Given the description of an element on the screen output the (x, y) to click on. 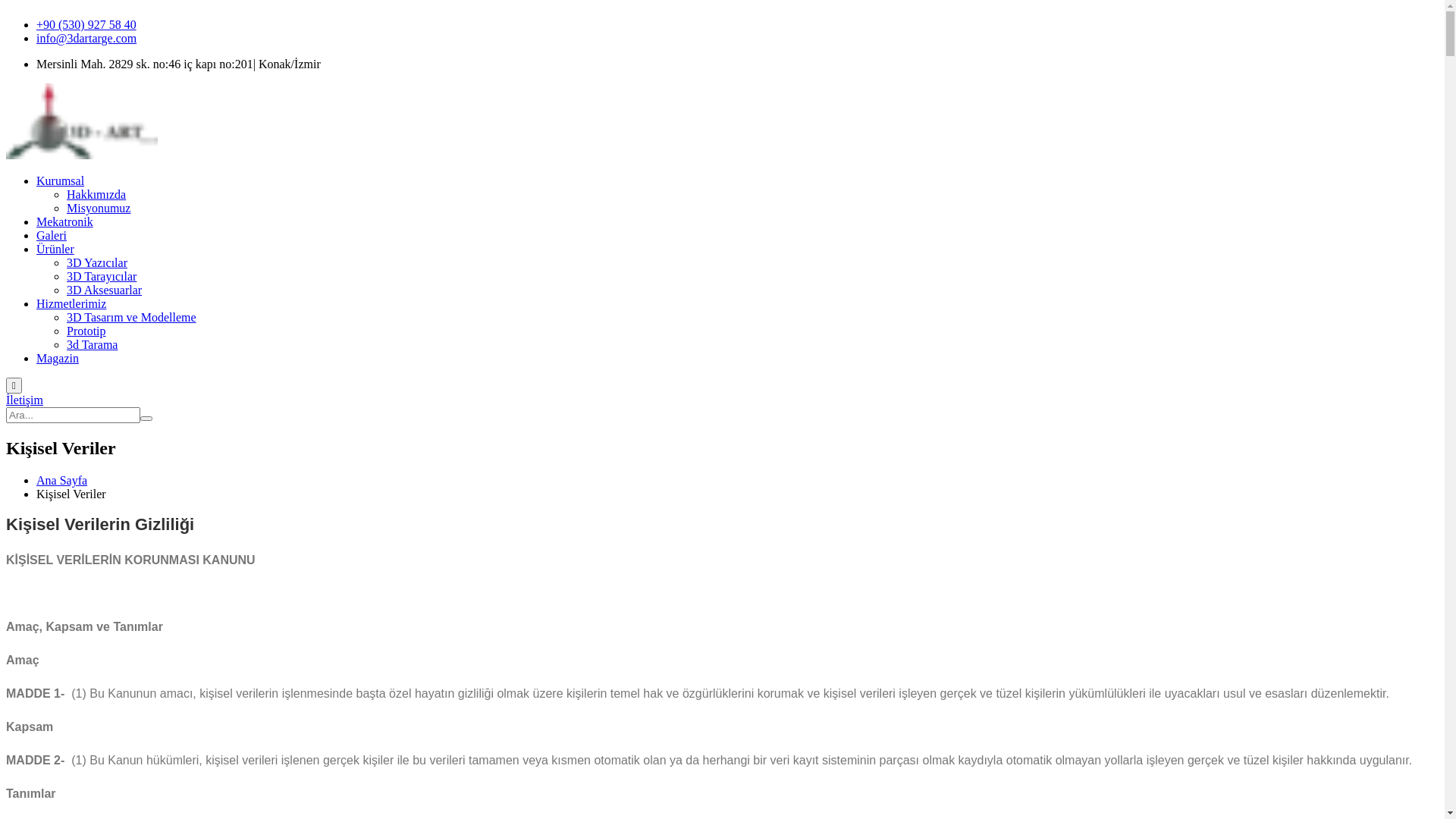
Hizmetlerimiz Element type: text (71, 303)
3D Aksesuarlar Element type: text (103, 289)
3D Art Arge Element type: hover (81, 121)
Ana Sayfa Element type: text (61, 479)
Magazin Element type: text (57, 357)
Mekatronik Element type: text (64, 221)
3D Art Arge Element type: hover (81, 154)
Misyonumuz Element type: text (98, 207)
3d Tarama Element type: text (91, 344)
Galeri Element type: text (51, 235)
Prototip Element type: text (86, 330)
Kurumsal Element type: text (60, 180)
info@3dartarge.com Element type: text (86, 37)
+90 (530) 927 58 40 Element type: text (86, 24)
